Given the description of an element on the screen output the (x, y) to click on. 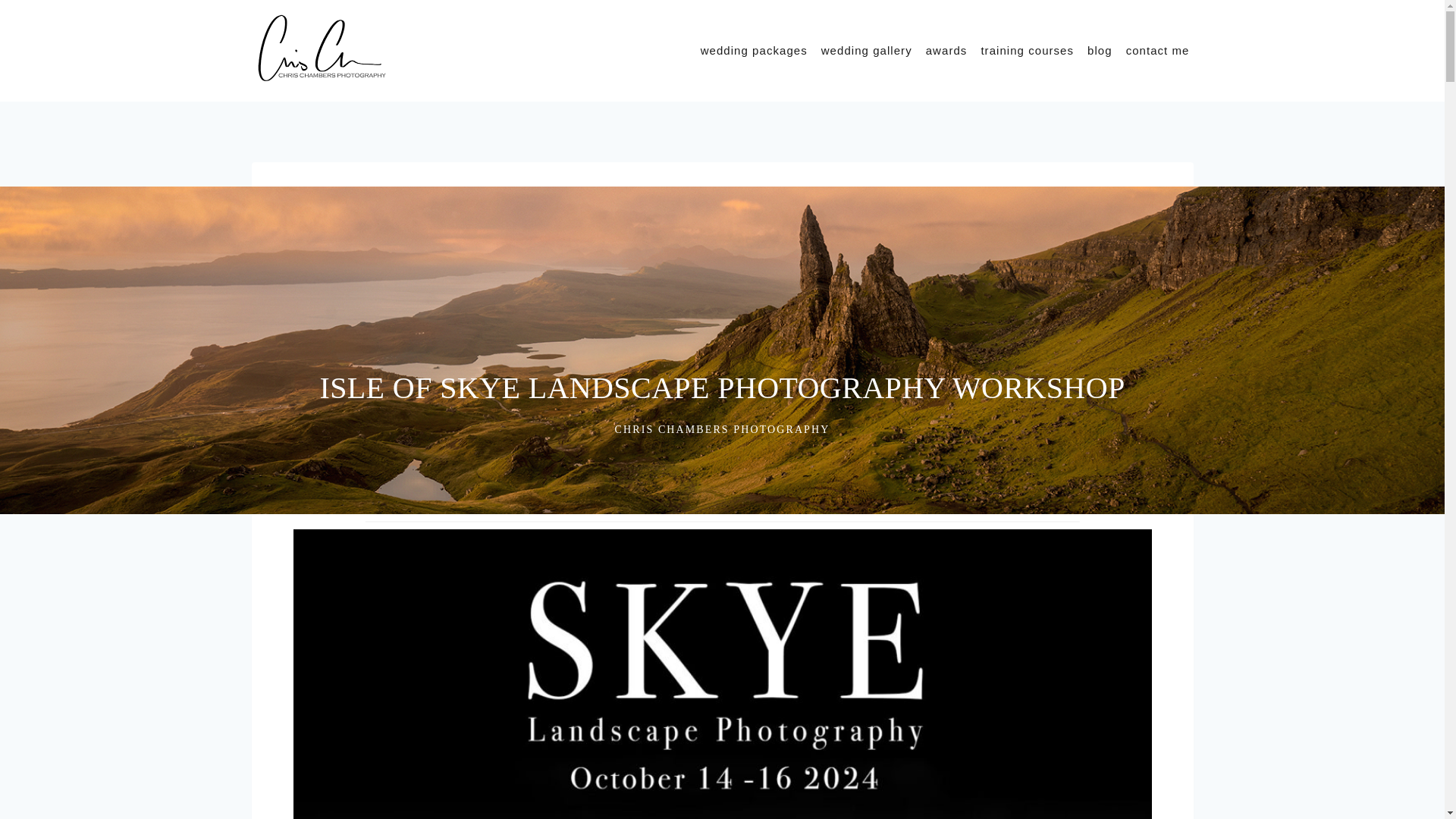
training courses (1027, 50)
contact me (1157, 50)
wedding gallery (865, 50)
wedding packages (753, 50)
awards (946, 50)
blog (1099, 50)
